Given the description of an element on the screen output the (x, y) to click on. 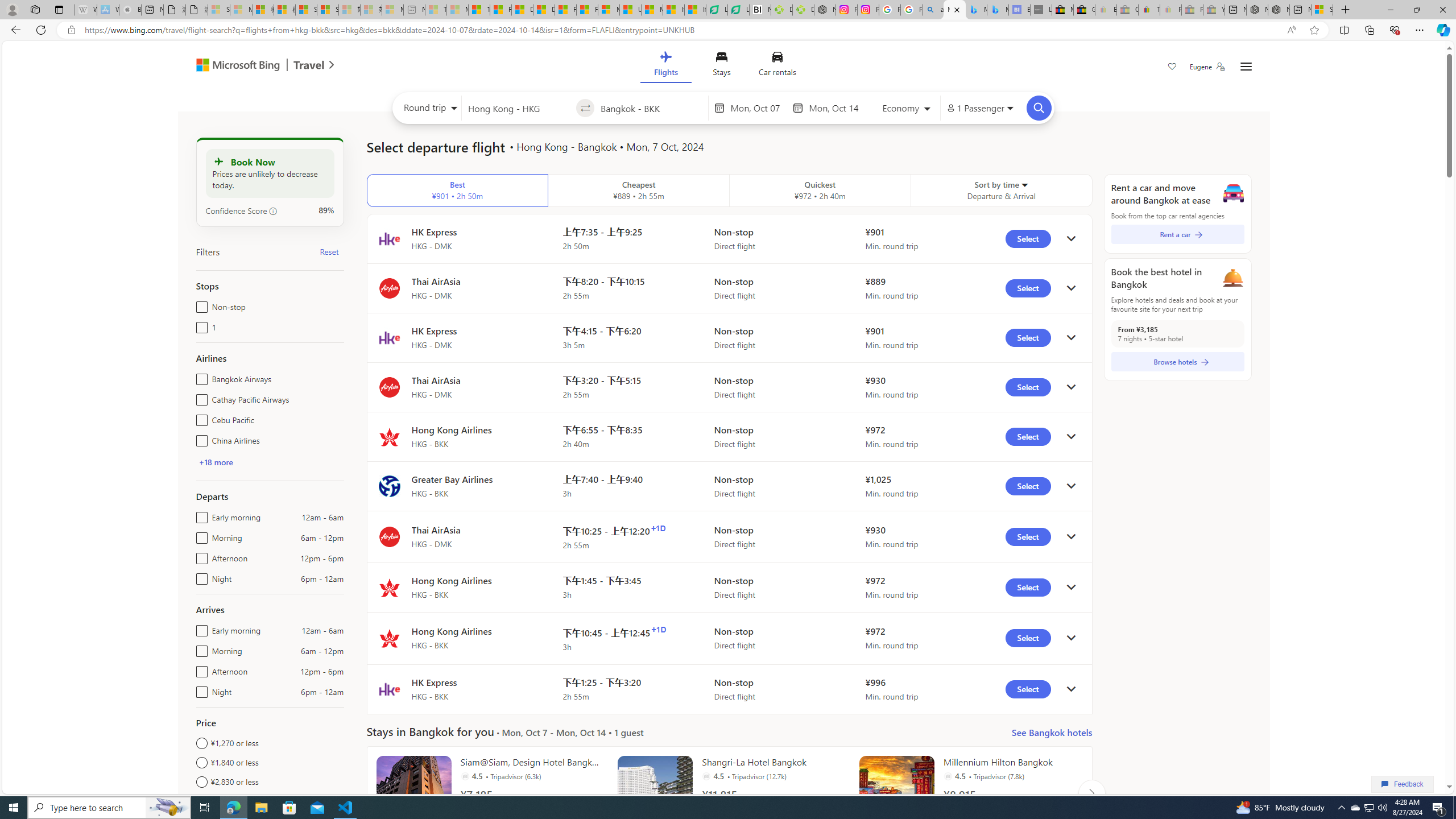
Night6pm - 12am (199, 689)
Click to scroll right (1091, 792)
+18 more (215, 461)
LendingTree - Compare Lenders (738, 9)
Rent a car (1177, 234)
Microsoft Bing (232, 65)
1 Passenger (979, 108)
Microsoft Services Agreement - Sleeping (241, 9)
